Given the description of an element on the screen output the (x, y) to click on. 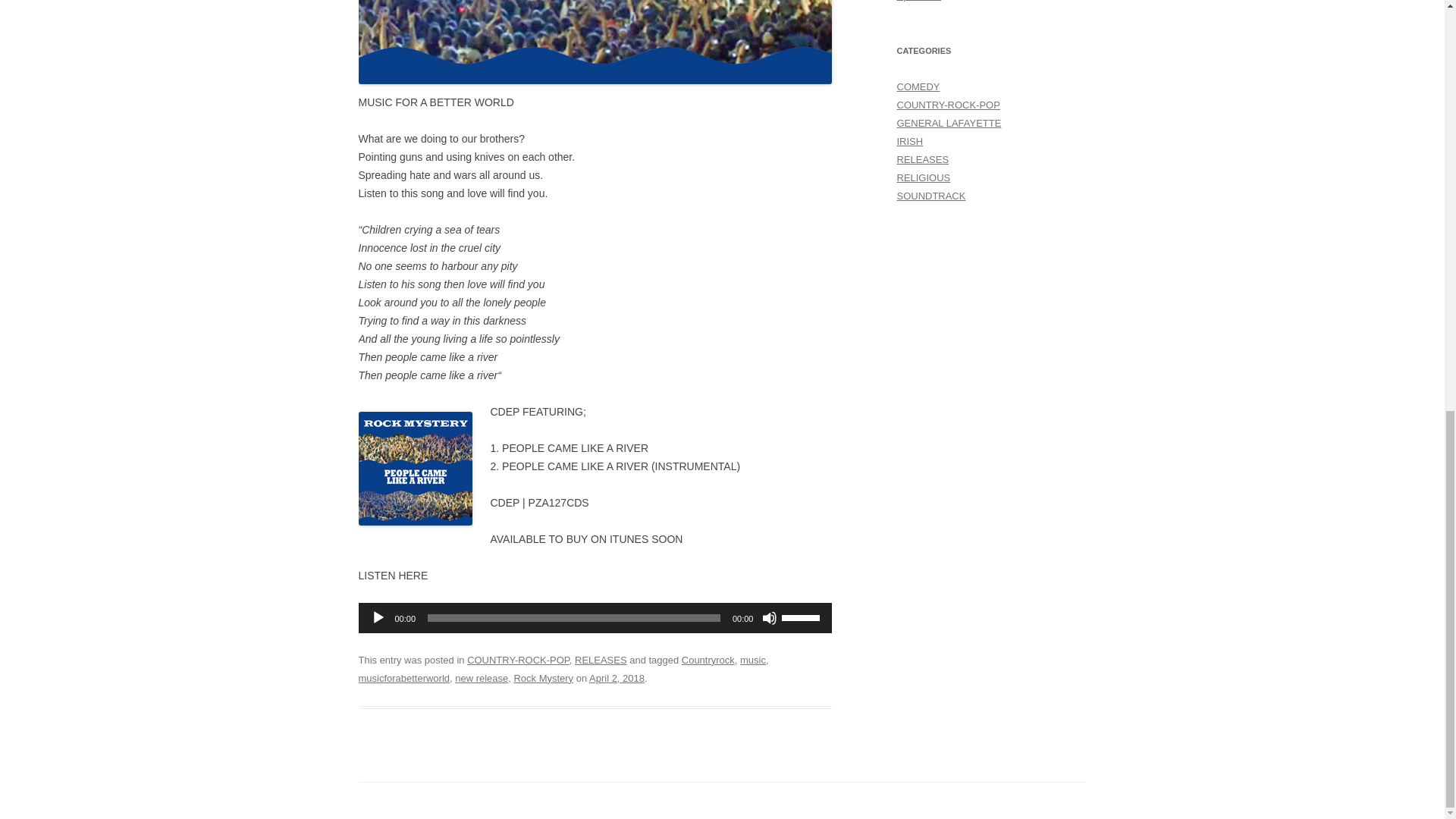
new release (481, 677)
April 2, 2018 (617, 677)
music (752, 659)
musicforabetterworld (403, 677)
RELEASES (601, 659)
4:57 pm (617, 677)
Rock Mystery (543, 677)
Play (377, 617)
Mute (769, 617)
Countryrock (708, 659)
